Given the description of an element on the screen output the (x, y) to click on. 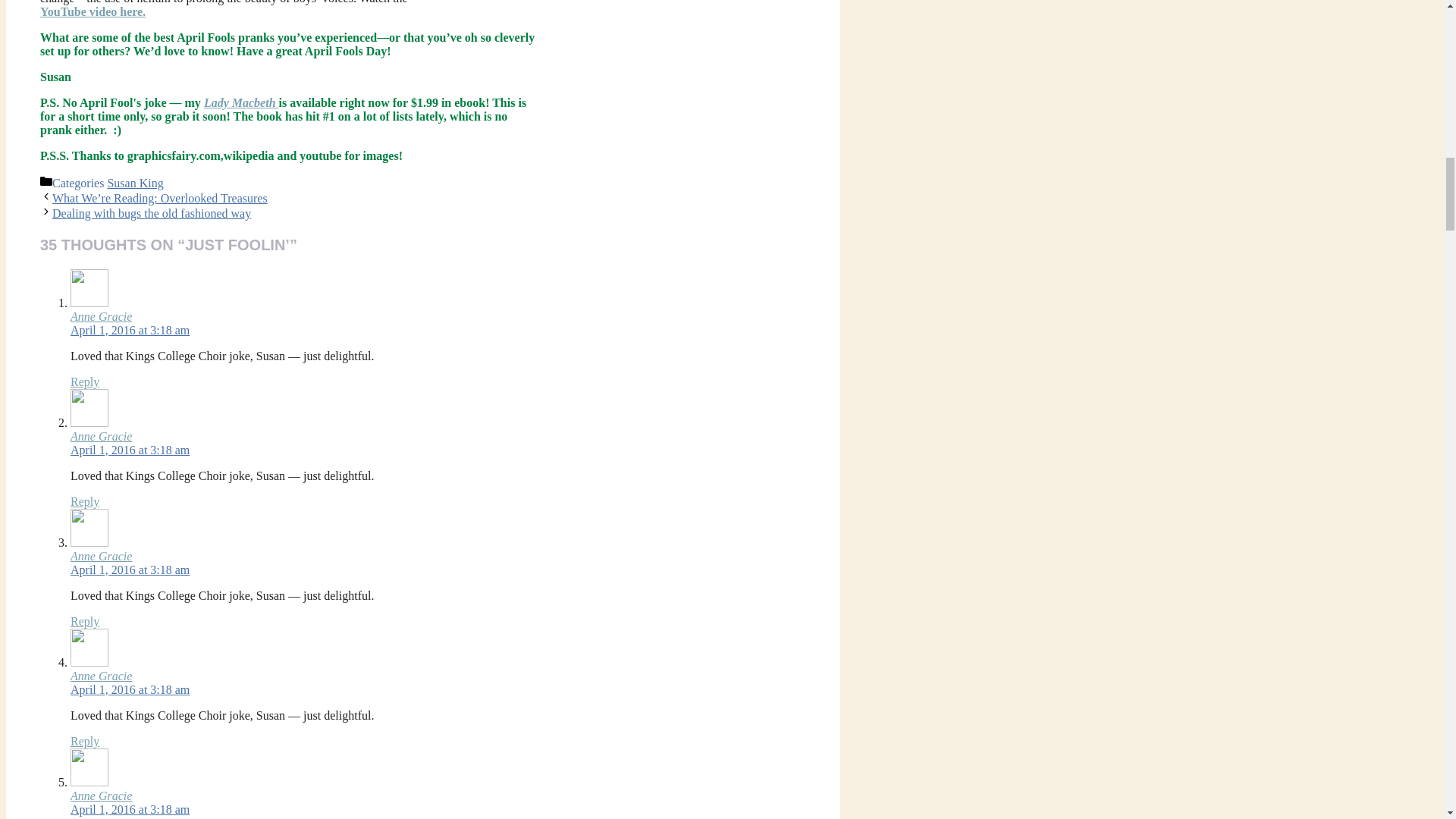
Lady Macbeth (241, 102)
YouTube video here. (92, 11)
Reply (84, 501)
Reply (84, 381)
Anne Gracie (100, 436)
April 1, 2016 at 3:18 am (129, 449)
Susan King (134, 182)
Dealing with bugs the old fashioned way (151, 213)
April 1, 2016 at 3:18 am (129, 329)
Anne Gracie (100, 316)
